Given the description of an element on the screen output the (x, y) to click on. 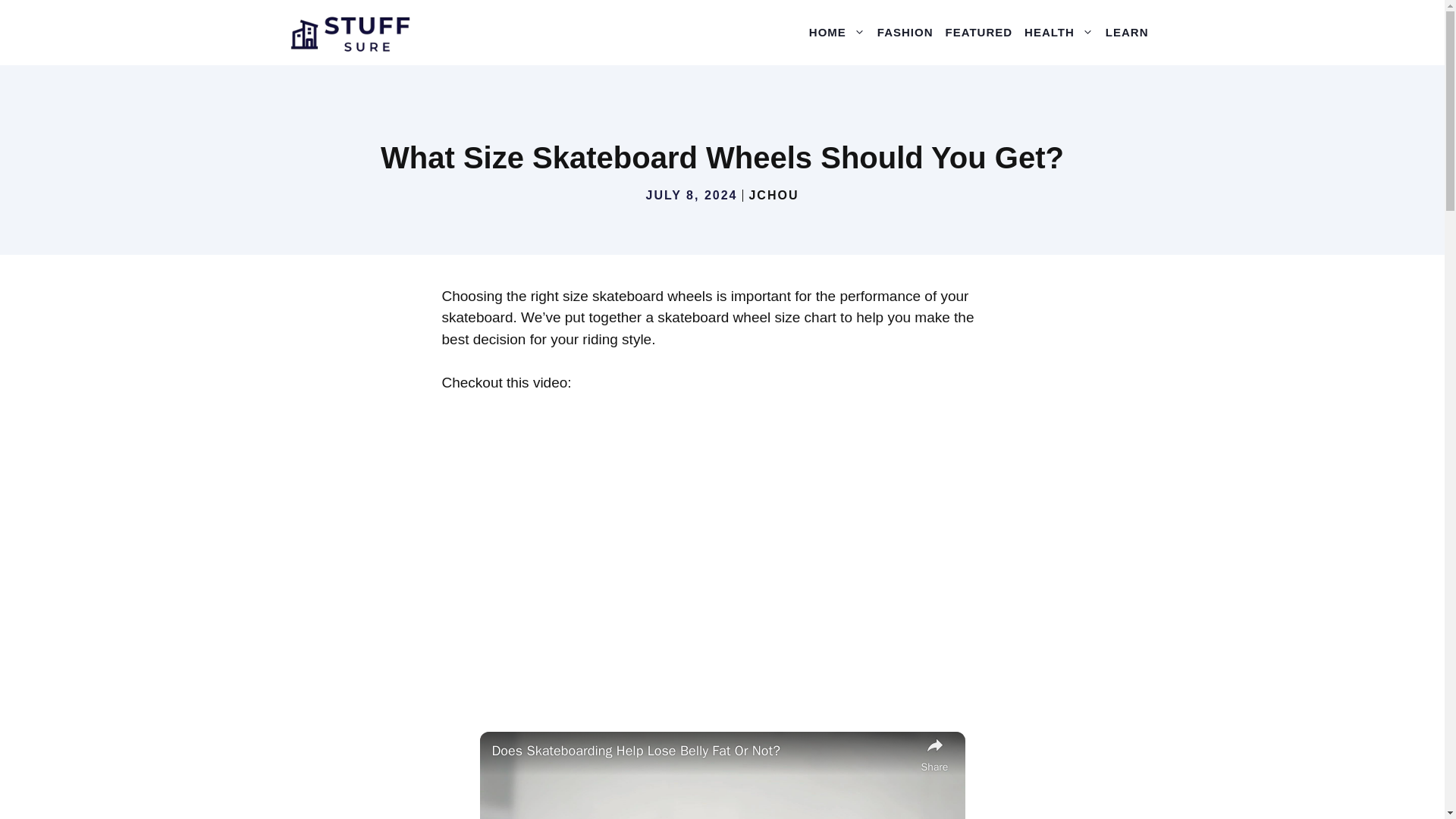
HEALTH (1058, 32)
LEARN (1126, 32)
FASHION (904, 32)
FEATURED (979, 32)
HOME (836, 32)
